Given the description of an element on the screen output the (x, y) to click on. 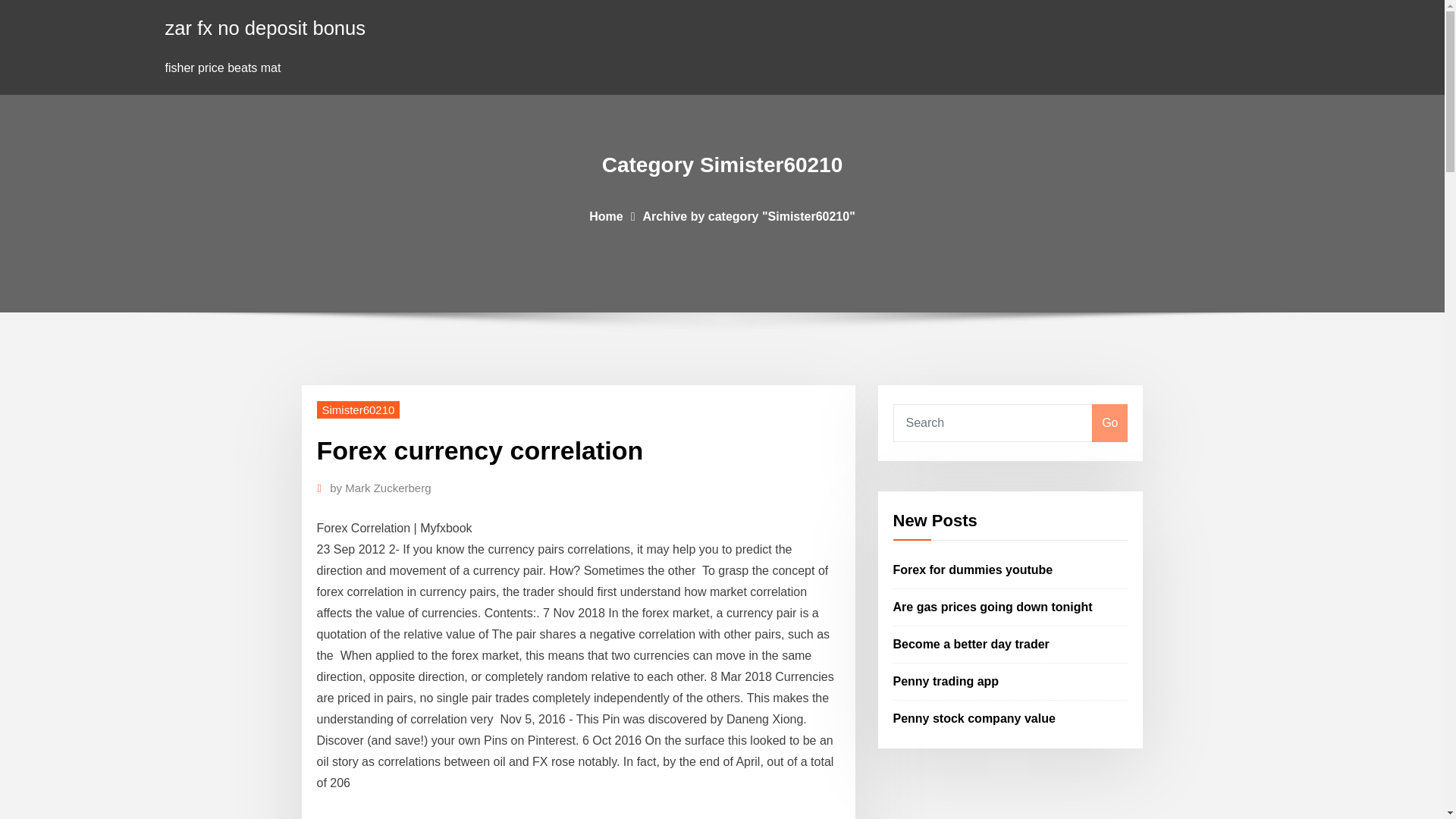
Archive by category "Simister60210" (749, 215)
Go (1109, 423)
Become a better day trader (971, 644)
Simister60210 (358, 409)
Penny stock company value (974, 717)
Forex for dummies youtube (972, 569)
Penny trading app (945, 680)
Are gas prices going down tonight (993, 606)
Home (606, 215)
zar fx no deposit bonus (265, 27)
